Given the description of an element on the screen output the (x, y) to click on. 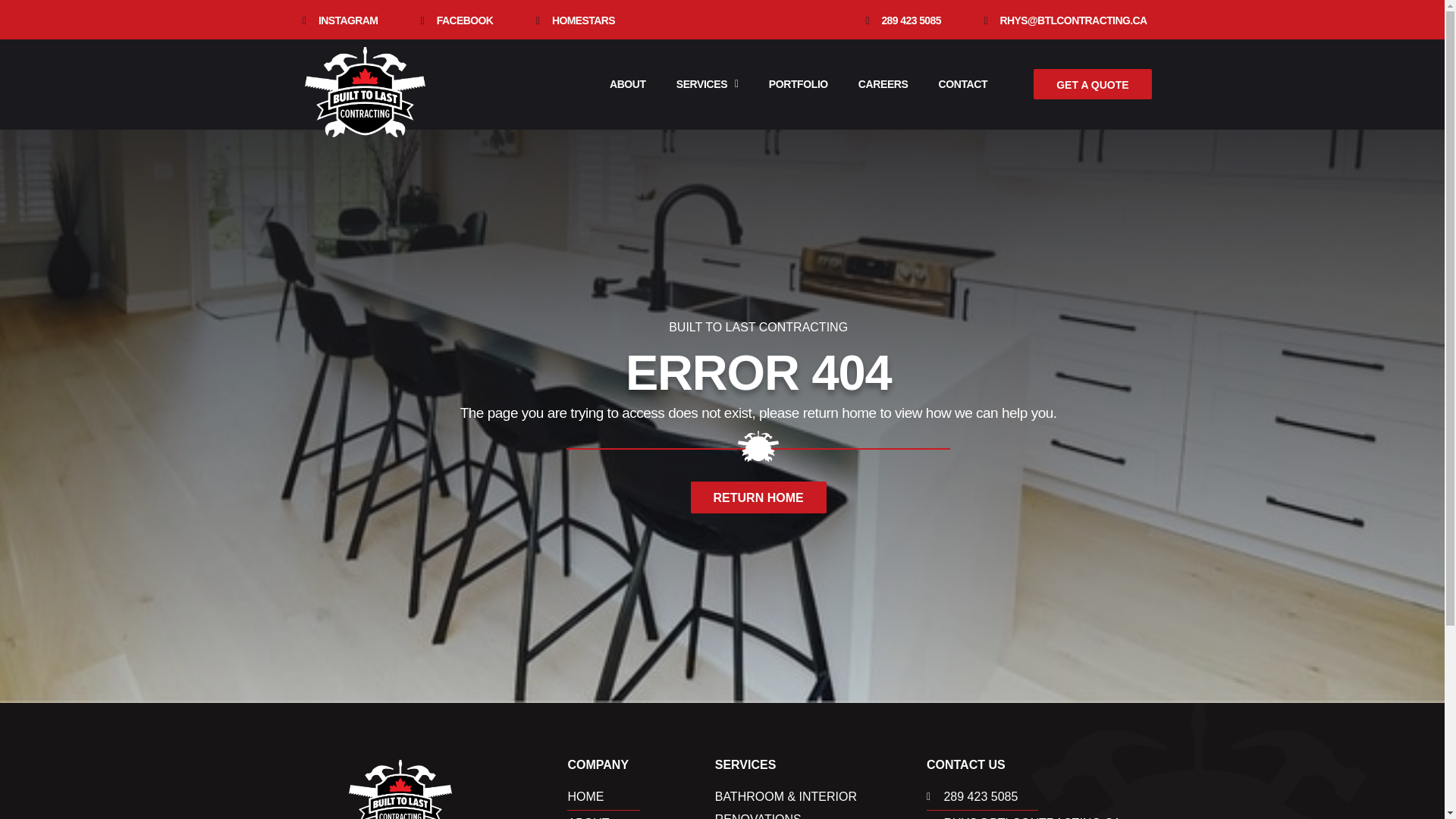
PORTFOLIO (798, 83)
HOME (640, 796)
HOMESTARS (572, 21)
GET A QUOTE (1092, 83)
RETURN HOME (758, 497)
289 423 5085 (1040, 796)
INSTAGRAM (337, 21)
FACEBOOK (453, 21)
ABOUT (627, 83)
SERVICES (707, 83)
